Given the description of an element on the screen output the (x, y) to click on. 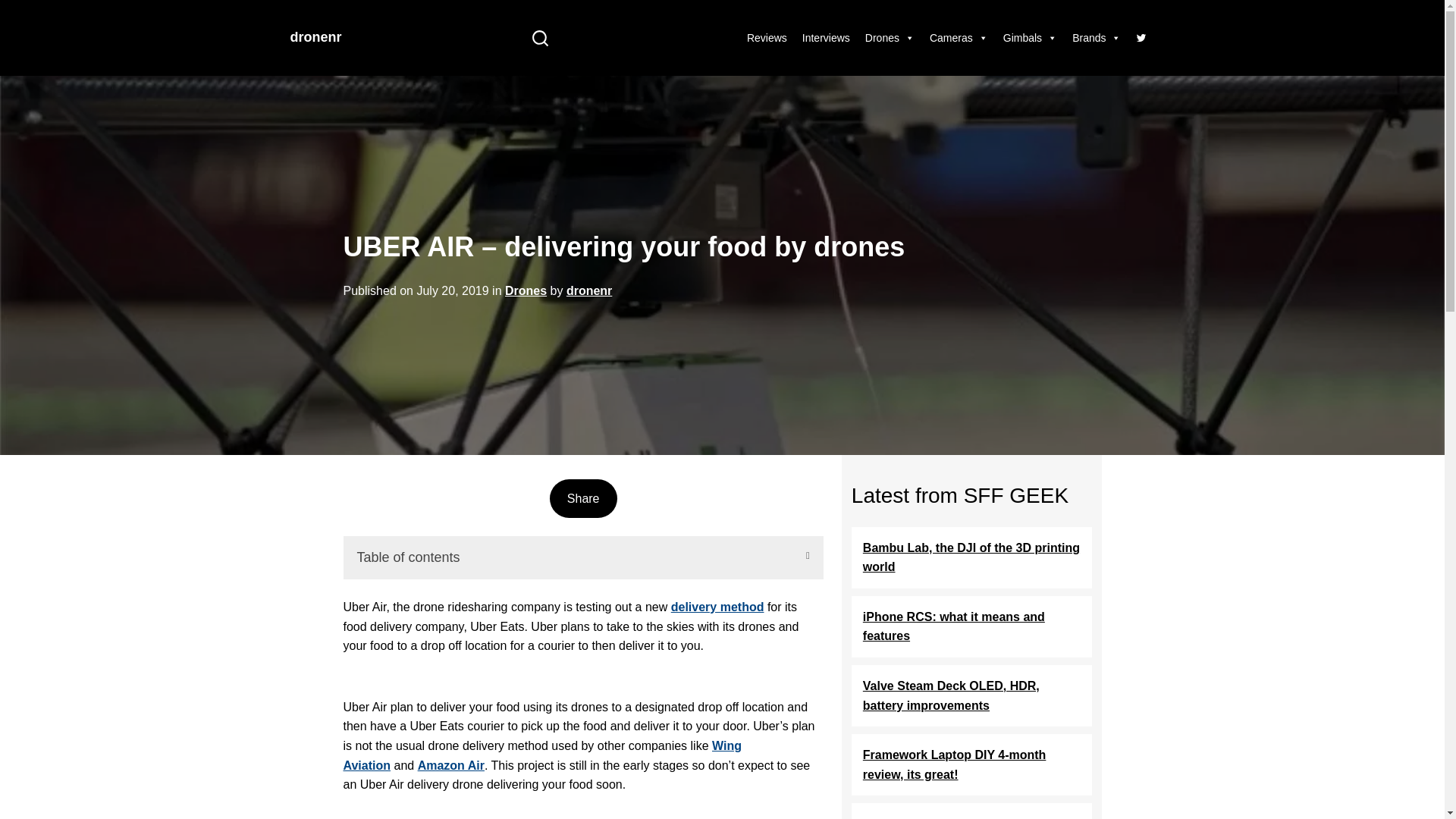
Bambu Lab, the DJI of the 3D printing world Element type: text (971, 557)
Amazon Air Element type: text (450, 764)
Interviews Element type: text (825, 37)
Brands Element type: text (1096, 37)
dronenr Element type: text (315, 36)
Reviews Element type: text (766, 37)
Share Element type: text (582, 498)
Wing Aviation Element type: text (541, 755)
Drones Element type: text (525, 290)
Drones Element type: text (889, 37)
Search Element type: hover (539, 38)
Cameras Element type: text (958, 37)
Gimbals Element type: text (1029, 37)
Framework Laptop DIY 4-month review, its great! Element type: text (971, 764)
iPhone RCS: what it means and features Element type: text (971, 626)
delivery method Element type: text (717, 606)
dronenr Element type: text (588, 290)
Table of contents Element type: text (582, 557)
Valve Steam Deck OLED, HDR, battery improvements Element type: text (971, 695)
